Given the description of an element on the screen output the (x, y) to click on. 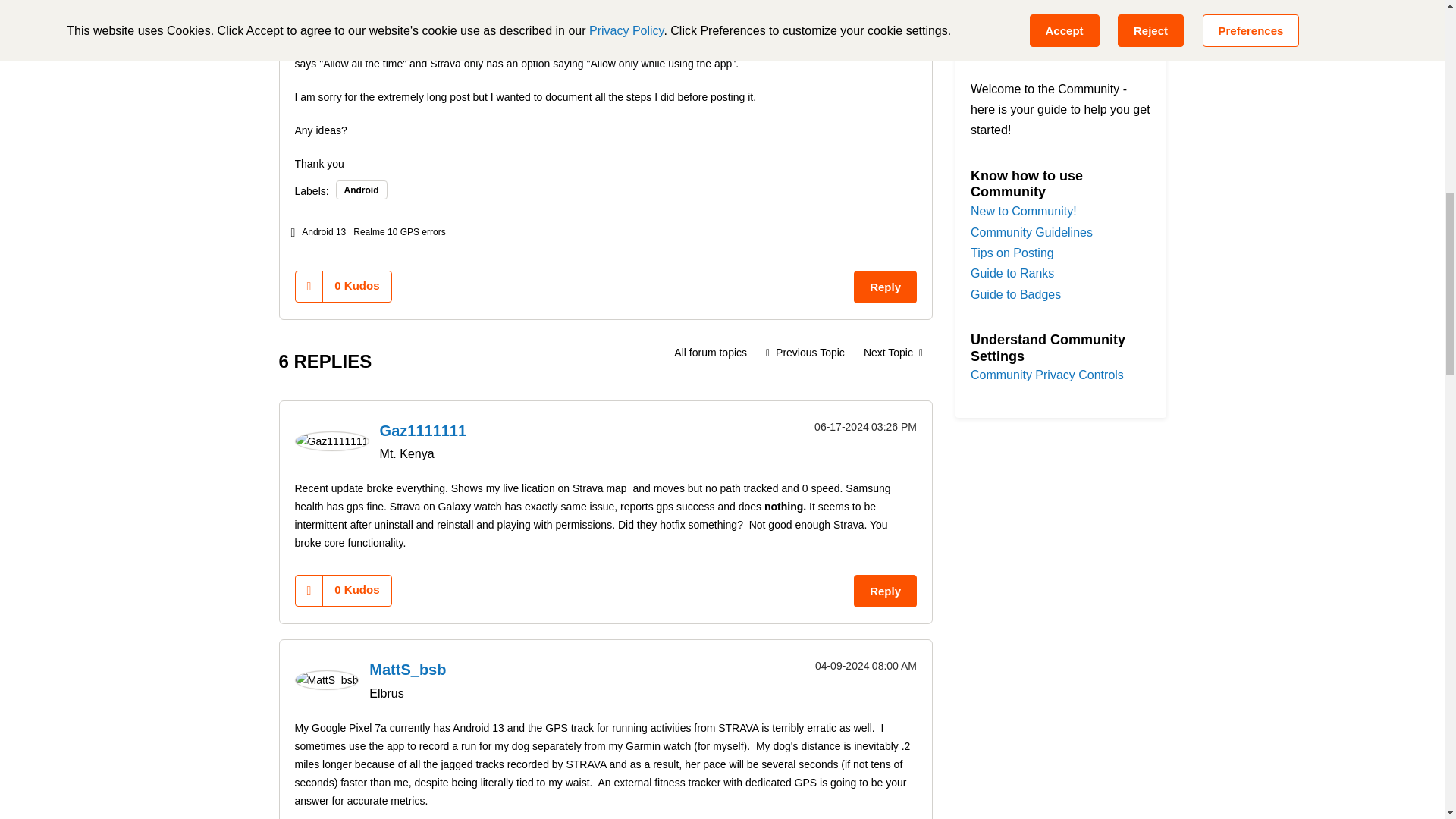
Devices and Connections (710, 352)
Community members who liked and gave this post kudos (356, 285)
